Given the description of an element on the screen output the (x, y) to click on. 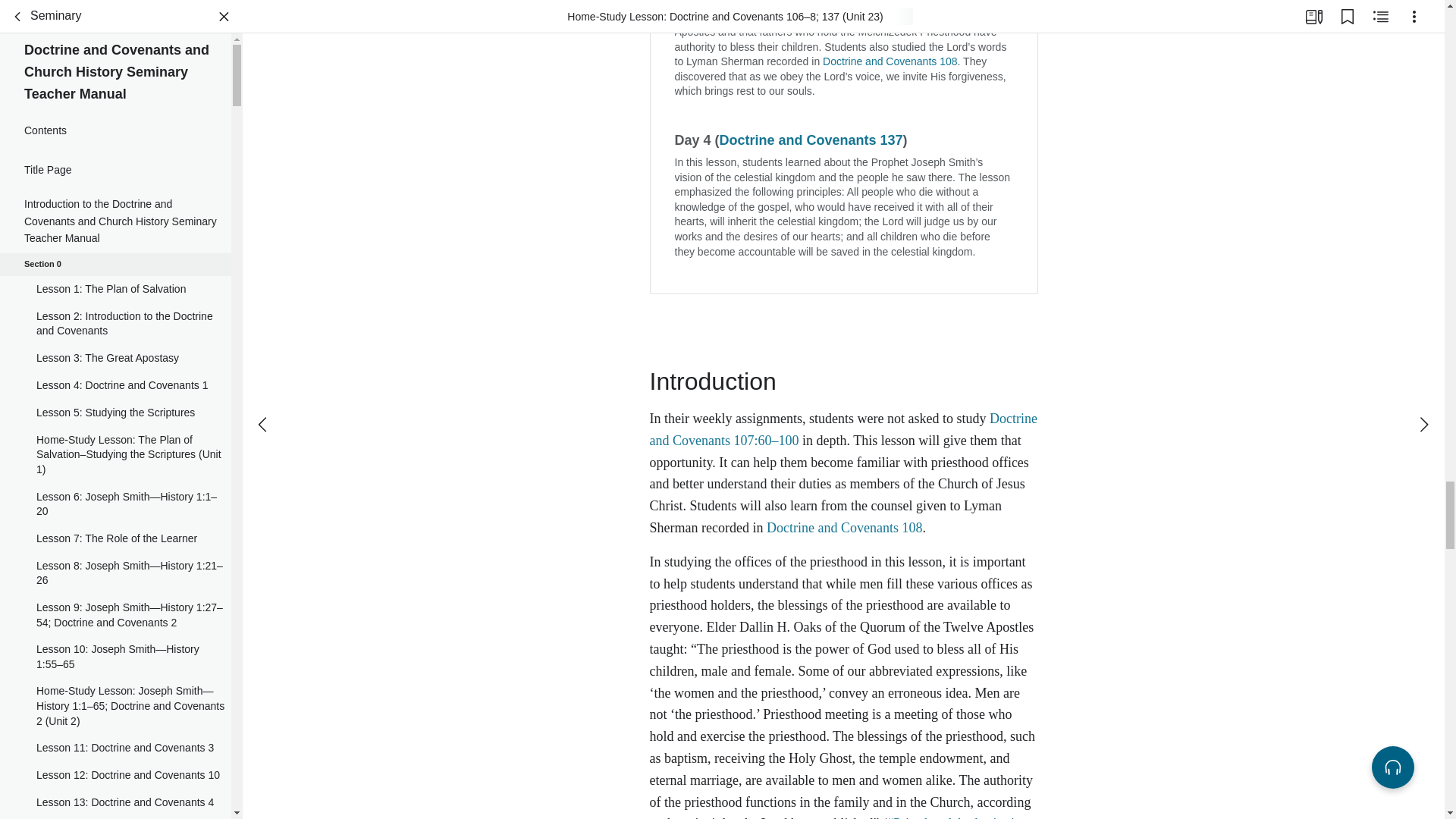
Lesson 14: Doctrine and Covenants 5 (115, 52)
Lesson 17: Doctrine and Covenants 9 (115, 205)
Lesson 13: Doctrine and Covenants 4 (115, 24)
Lesson 29: Doctrine and Covenants 21 (115, 800)
Lesson 16: Doctrine and Covenants 8 (115, 177)
Lesson 21: Doctrine and Covenants 17 (115, 437)
Lesson 12: Doctrine and Covenants 10 (115, 5)
